Given the description of an element on the screen output the (x, y) to click on. 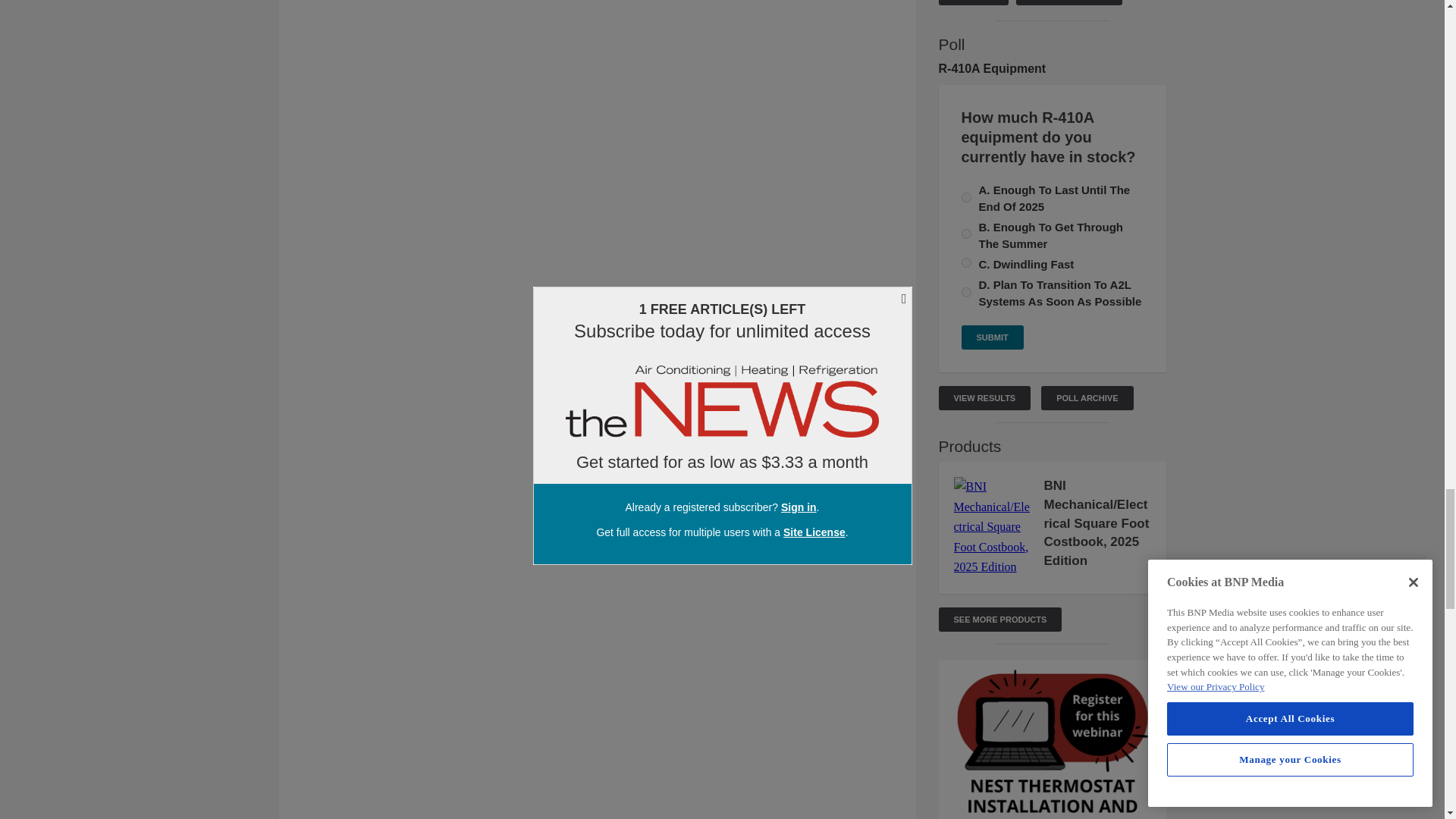
596 (965, 234)
598 (965, 262)
599 (965, 292)
Submit (991, 337)
597 (965, 197)
